Given the description of an element on the screen output the (x, y) to click on. 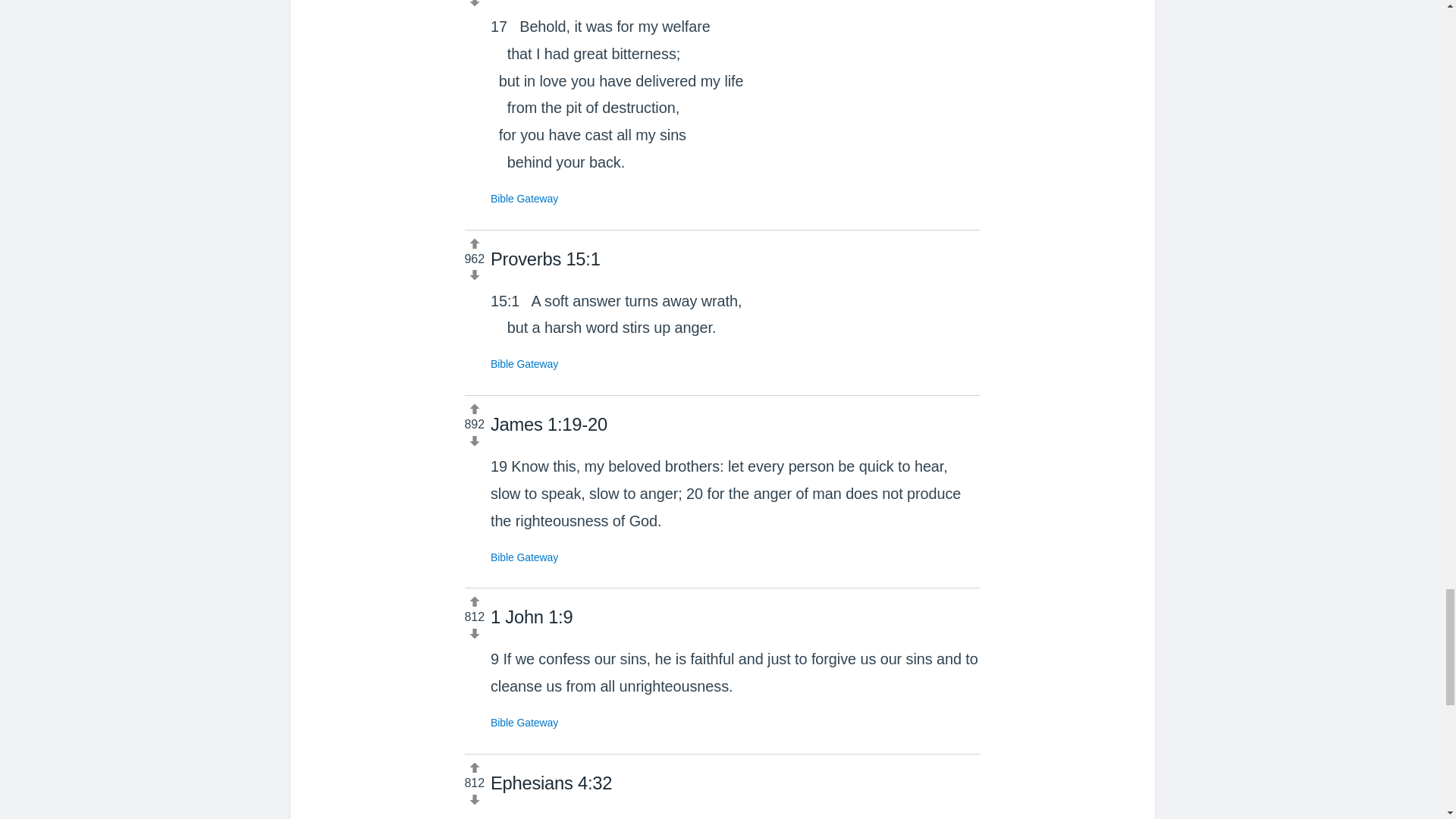
Bible Gateway (523, 198)
Bible Gateway (523, 722)
Bible Gateway (523, 556)
Bible Gateway (523, 363)
